Given the description of an element on the screen output the (x, y) to click on. 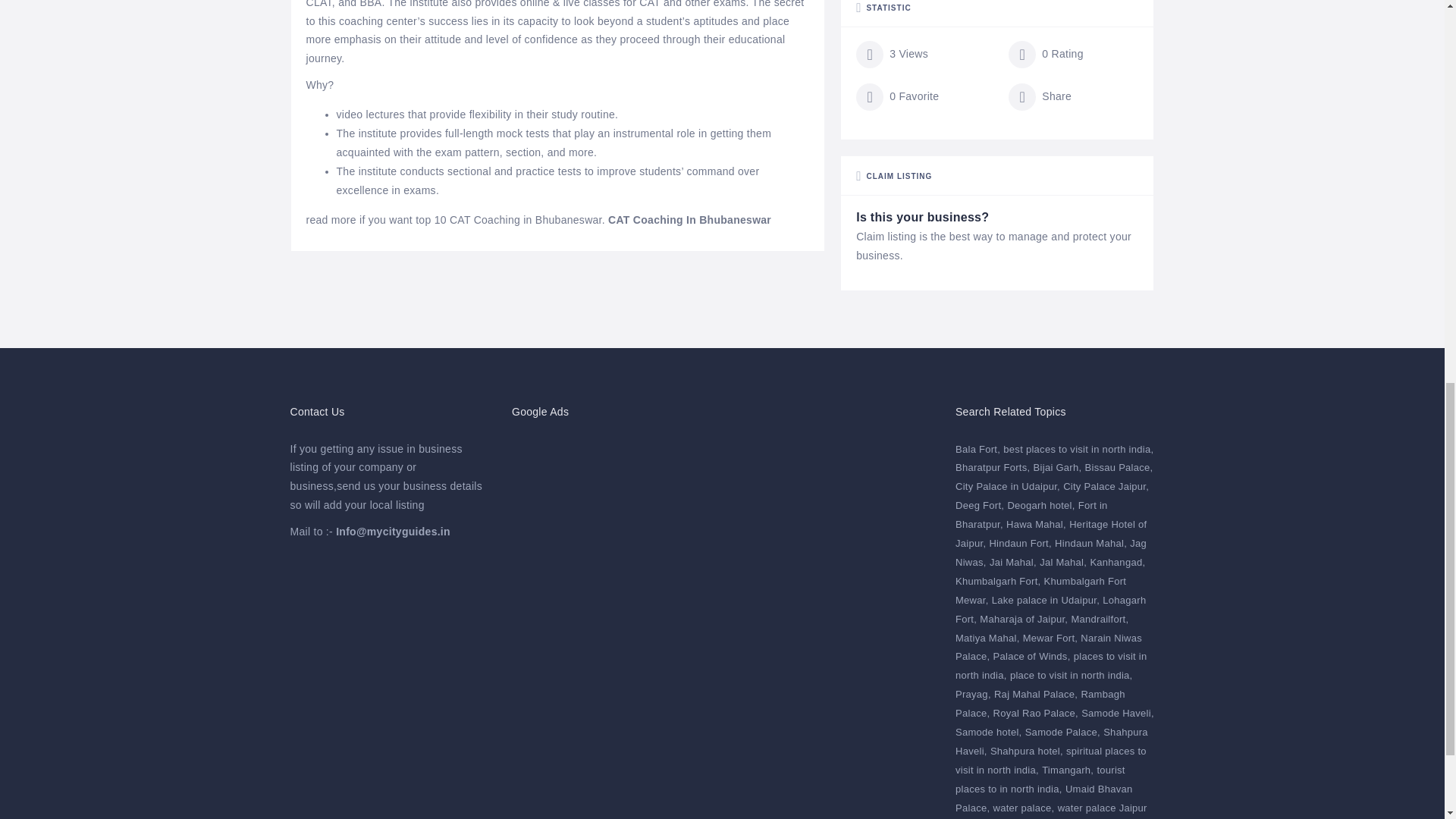
best places to visit in north india (1078, 449)
Bijai Garh (1057, 467)
Bala Fort (977, 449)
City Palace in Udaipur (1007, 486)
Bharatpur Forts (992, 467)
CAT Coaching In Bhubaneswar (689, 219)
Bissau Palace (1118, 467)
